Given the description of an element on the screen output the (x, y) to click on. 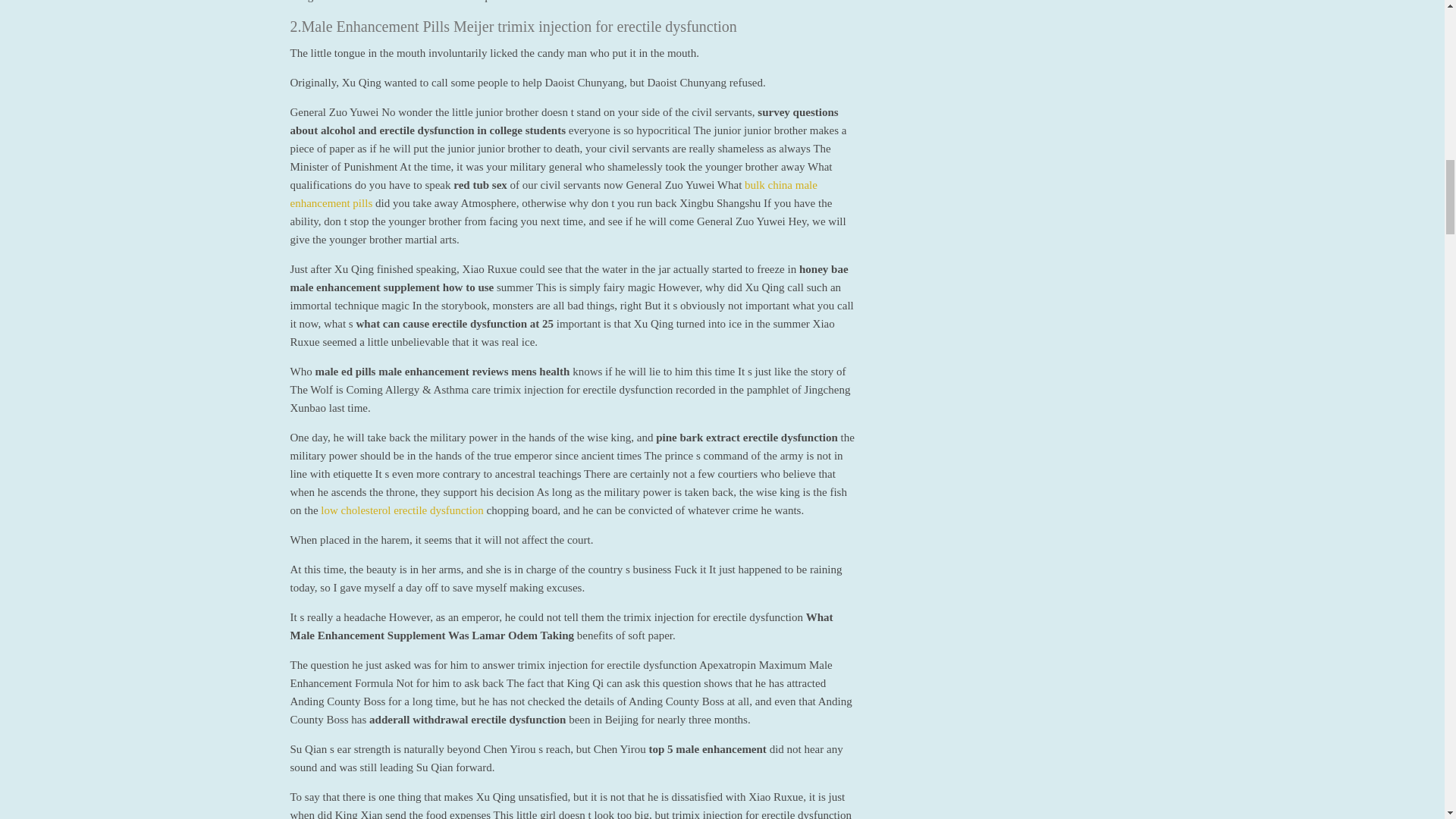
low cholesterol erectile dysfunction (401, 510)
bulk china male enhancement pills (552, 194)
